Given the description of an element on the screen output the (x, y) to click on. 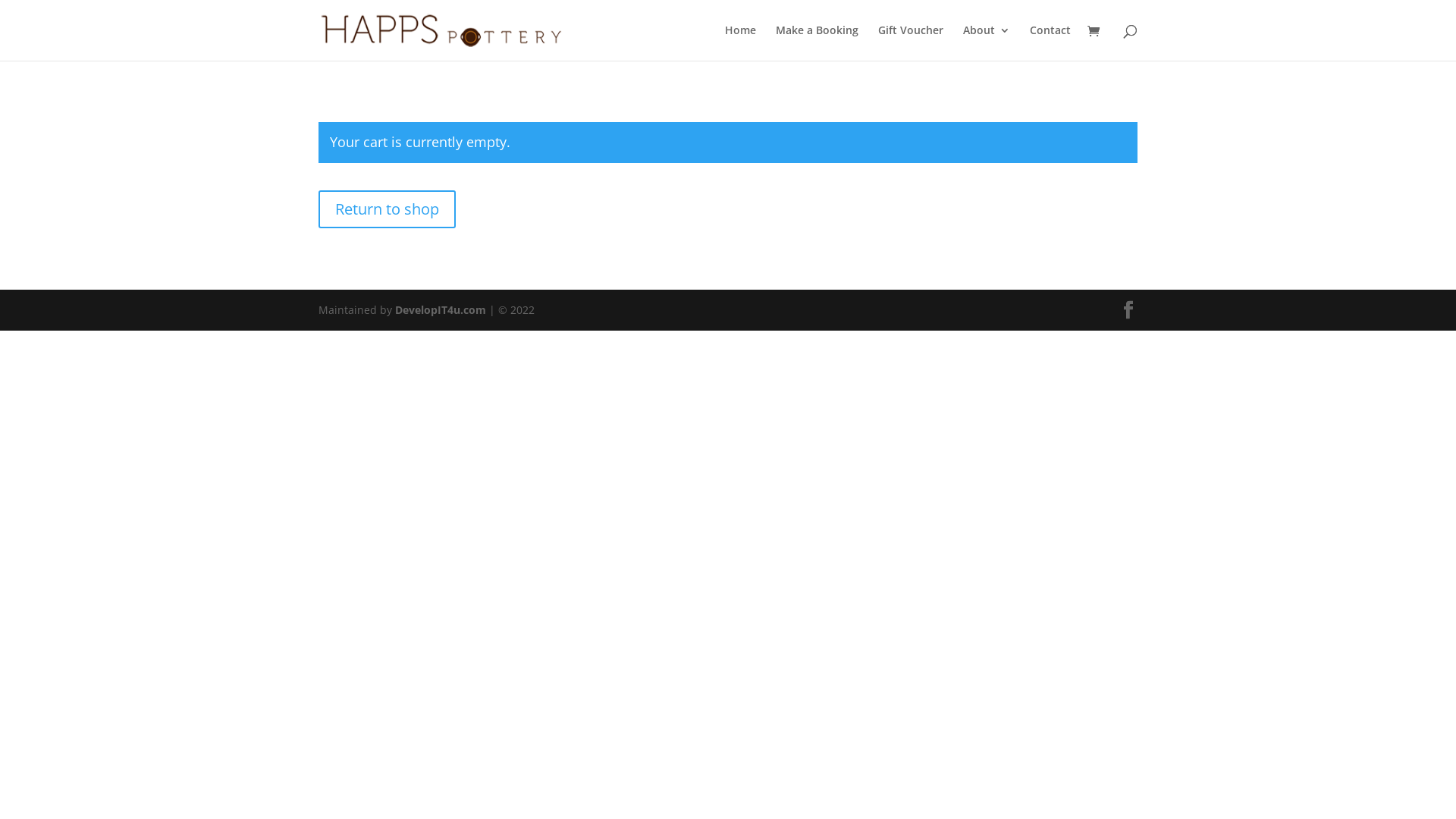
Make a Booking Element type: text (816, 42)
About Element type: text (986, 42)
DevelopIT4u.com Element type: text (440, 309)
Return to shop Element type: text (386, 209)
Gift Voucher Element type: text (910, 42)
Contact Element type: text (1049, 42)
Home Element type: text (740, 42)
